Given the description of an element on the screen output the (x, y) to click on. 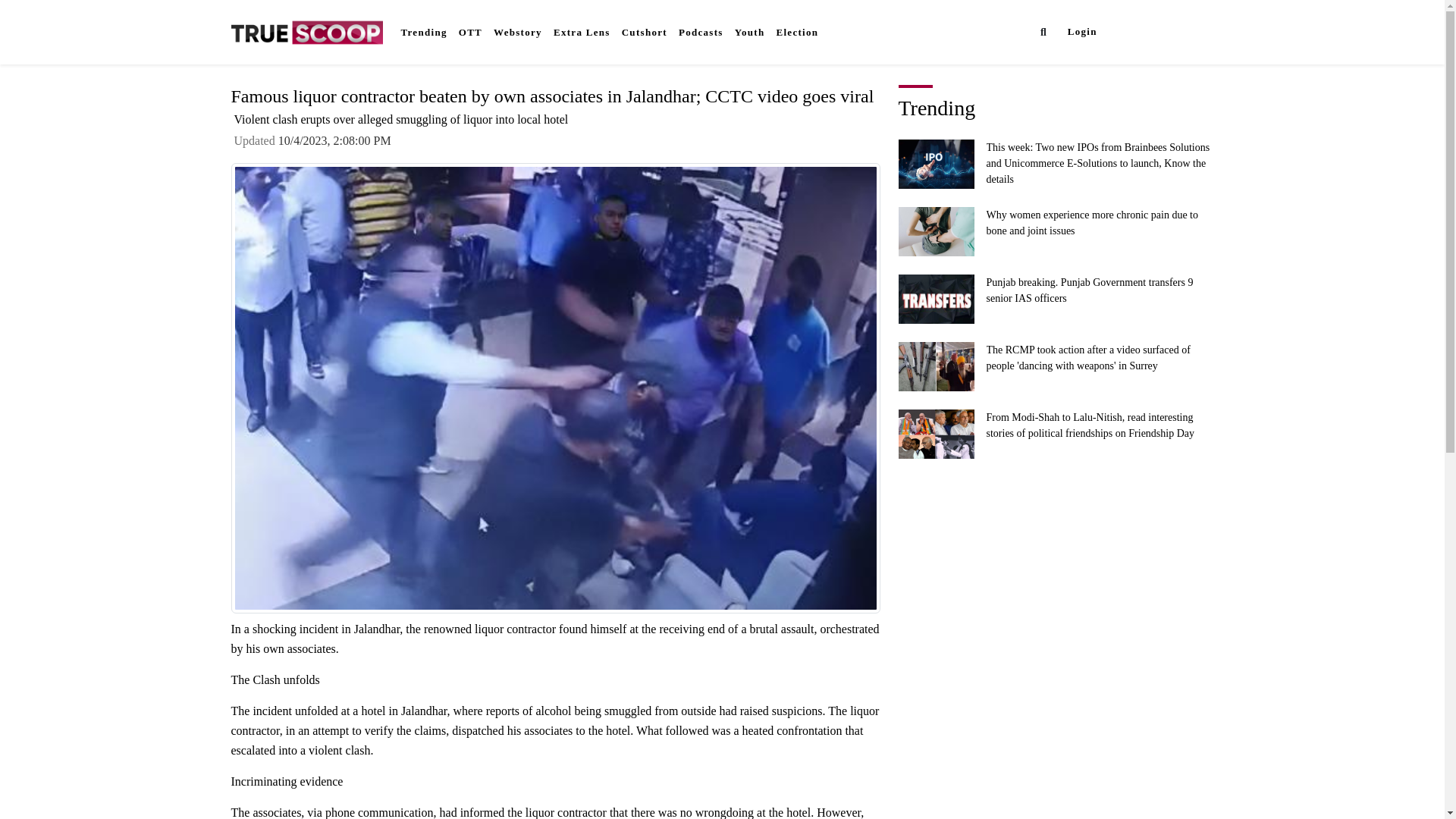
Webstory (517, 31)
Trending (422, 31)
Scoop (1136, 30)
Ott (469, 31)
Extra Lens (581, 31)
Youth (749, 31)
Extra Lens (581, 31)
Youth (749, 31)
Cutshort (643, 31)
Podcast (700, 31)
Election (797, 31)
Webstory (517, 31)
Scoop (1136, 31)
Trending (422, 31)
